Given the description of an element on the screen output the (x, y) to click on. 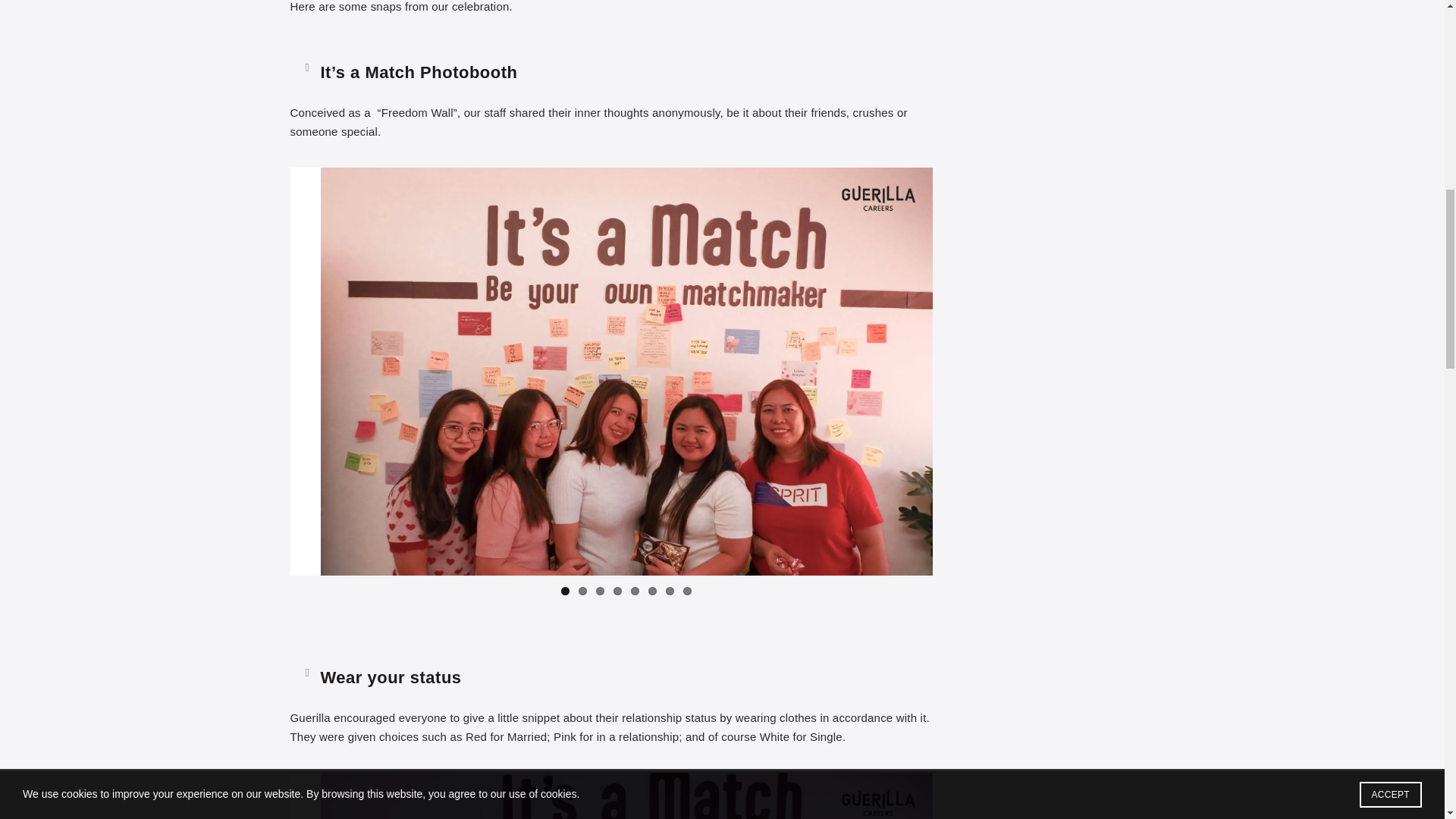
6 (651, 591)
1 (564, 591)
8 (686, 591)
2 (582, 591)
4 (616, 591)
7 (669, 591)
5 (634, 591)
3 (599, 591)
